Given the description of an element on the screen output the (x, y) to click on. 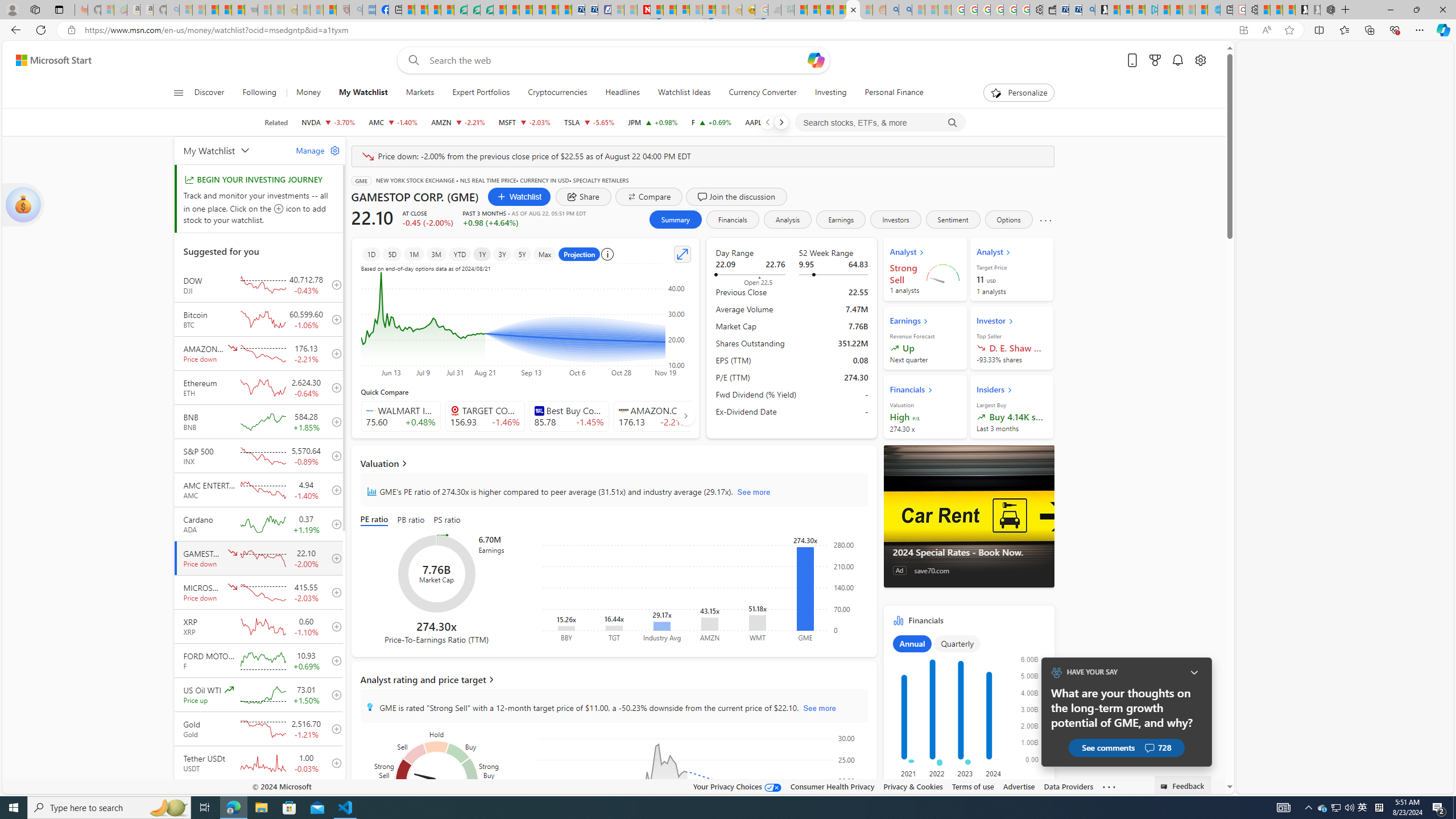
1D (371, 254)
Your Privacy Choices (737, 785)
Microsoft Word - consumer-privacy address update 2.2021 (486, 9)
Cryptocurrencies (557, 92)
PB ratio (411, 520)
Analyst rating and price target (613, 679)
